Given the description of an element on the screen output the (x, y) to click on. 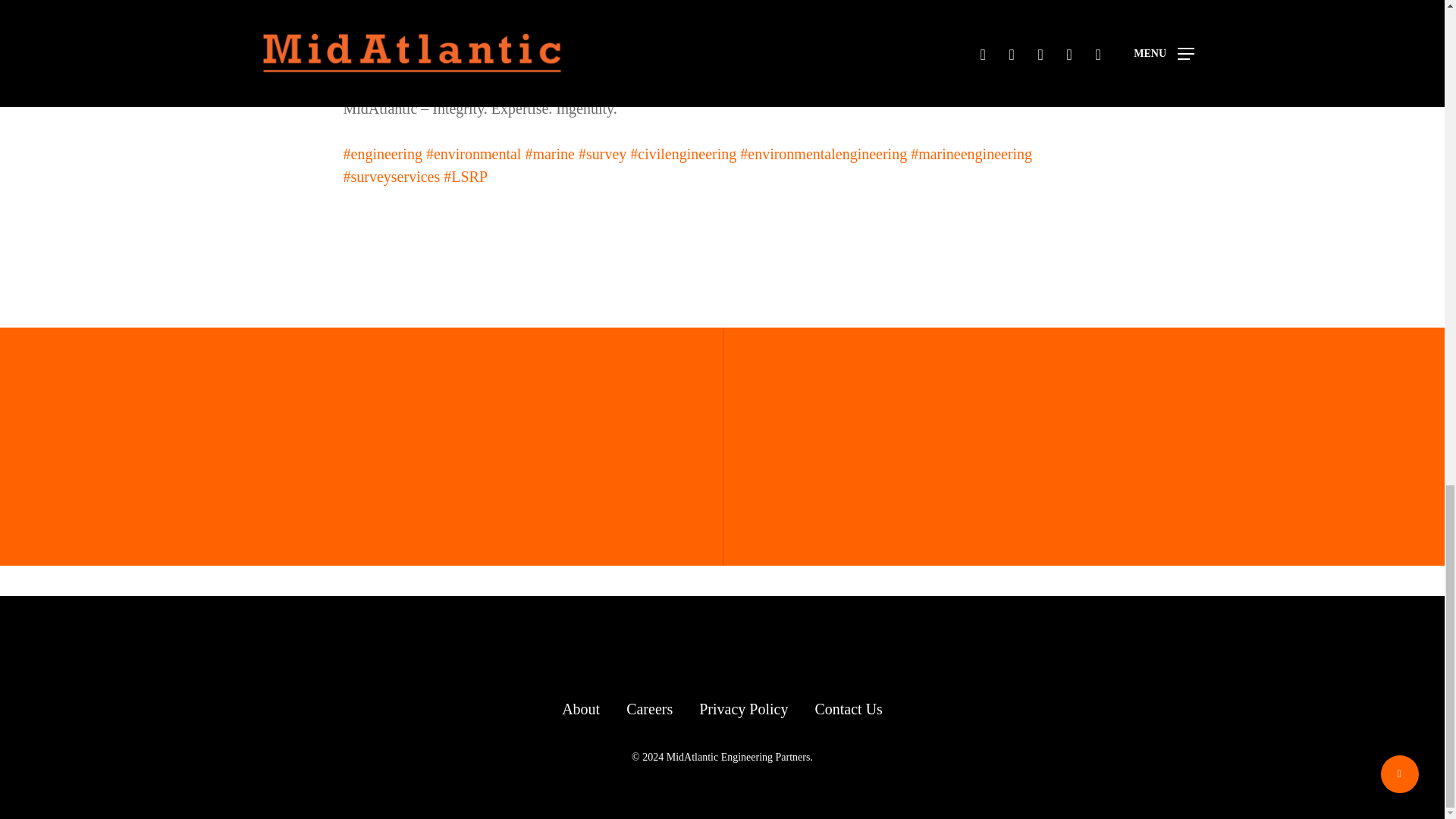
About (580, 708)
Careers (649, 708)
Contact Us (847, 708)
Privacy Policy (742, 708)
